Given the description of an element on the screen output the (x, y) to click on. 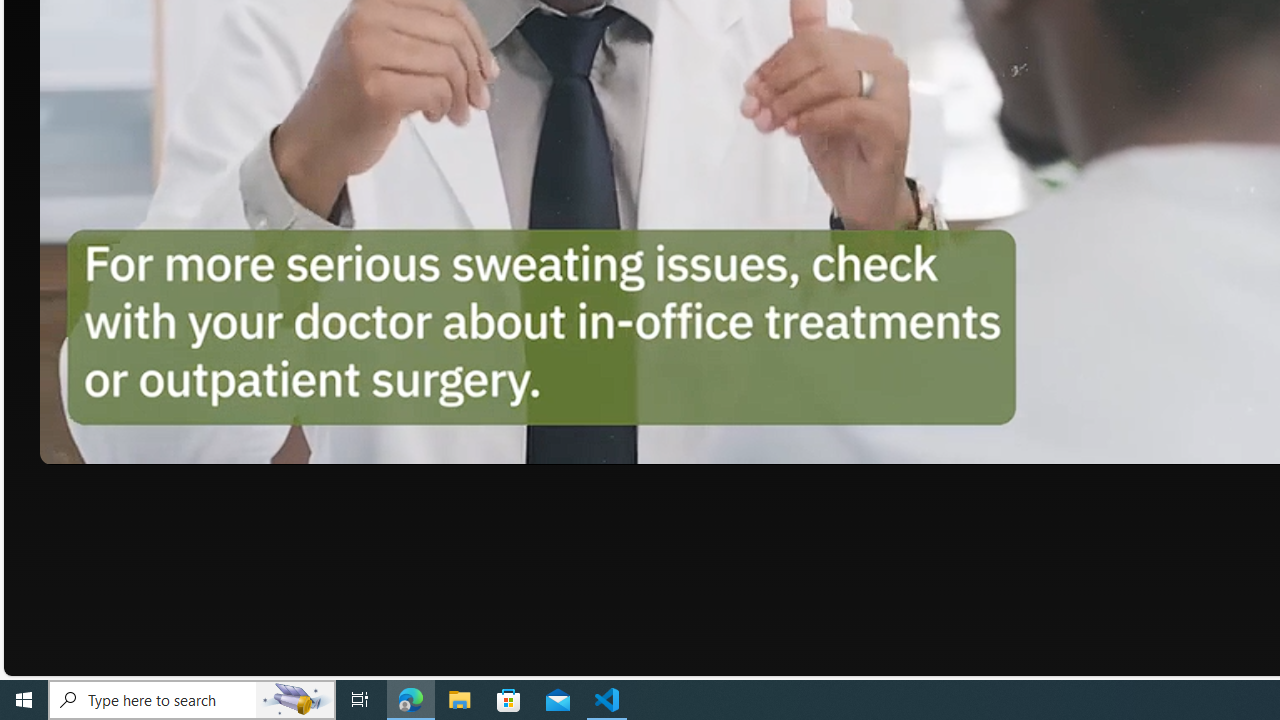
Seek Back (109, 442)
Seek Forward (150, 442)
Pause (69, 442)
